Given the description of an element on the screen output the (x, y) to click on. 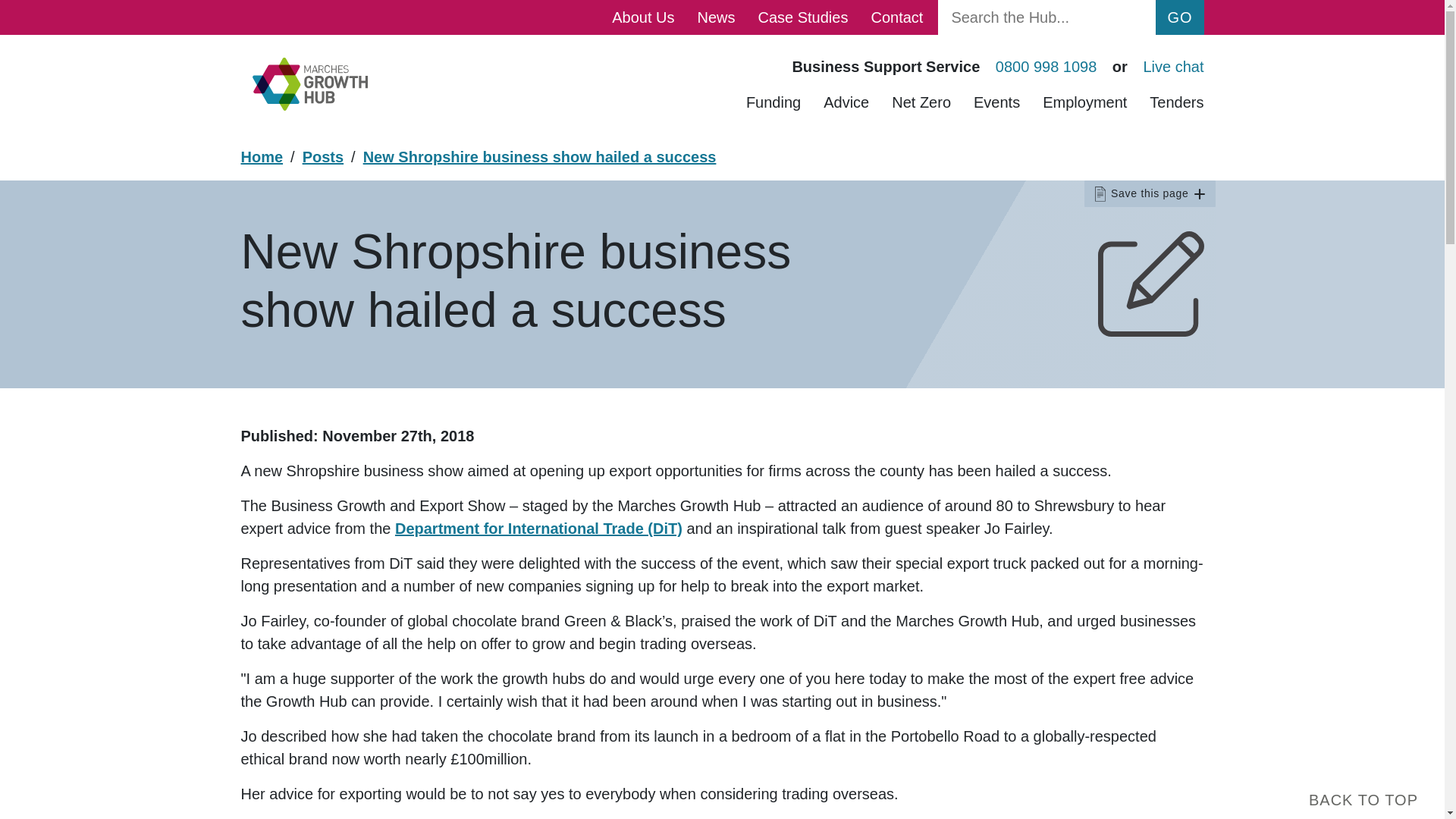
Marches Growth Hub (309, 83)
News (715, 17)
plus (1198, 194)
About Us (642, 17)
